Given the description of an element on the screen output the (x, y) to click on. 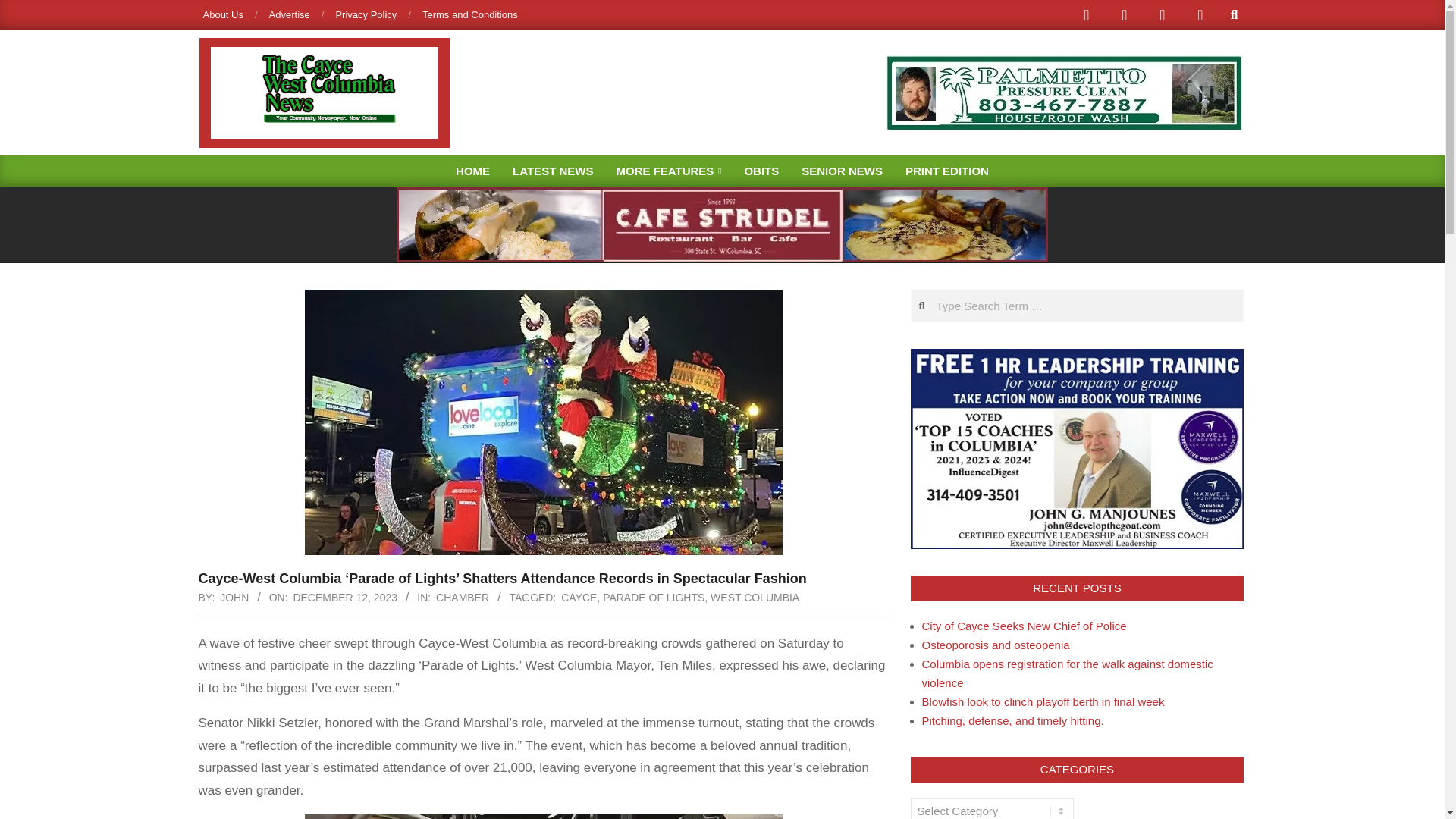
City of Cayce Seeks New Chief of Police (1023, 625)
Osteoporosis and osteopenia (995, 644)
WEST COLUMBIA (754, 597)
Advertise (289, 14)
LATEST NEWS (552, 171)
PRINT EDITION (946, 171)
CAYCE (578, 597)
SENIOR NEWS (841, 171)
Posts by John (233, 597)
OBITS (761, 171)
MORE FEATURES (668, 171)
Search (24, 9)
Terms and Conditions (470, 14)
PARADE OF LIGHTS (653, 597)
